Given the description of an element on the screen output the (x, y) to click on. 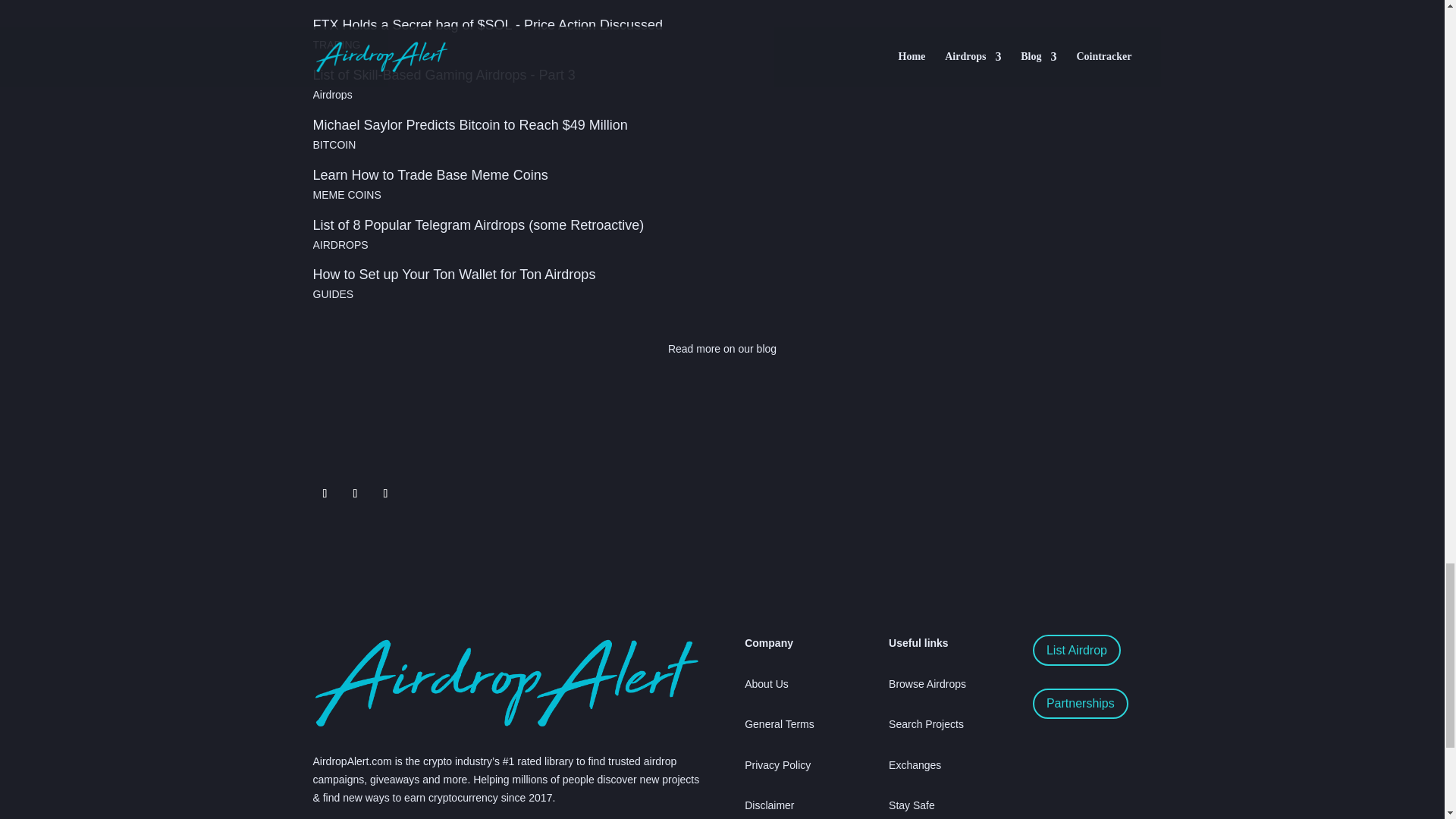
Follow on Facebook (384, 493)
Follow on X (324, 493)
Follow on Telegram (354, 493)
airdrop-alert-logo (505, 682)
